Given the description of an element on the screen output the (x, y) to click on. 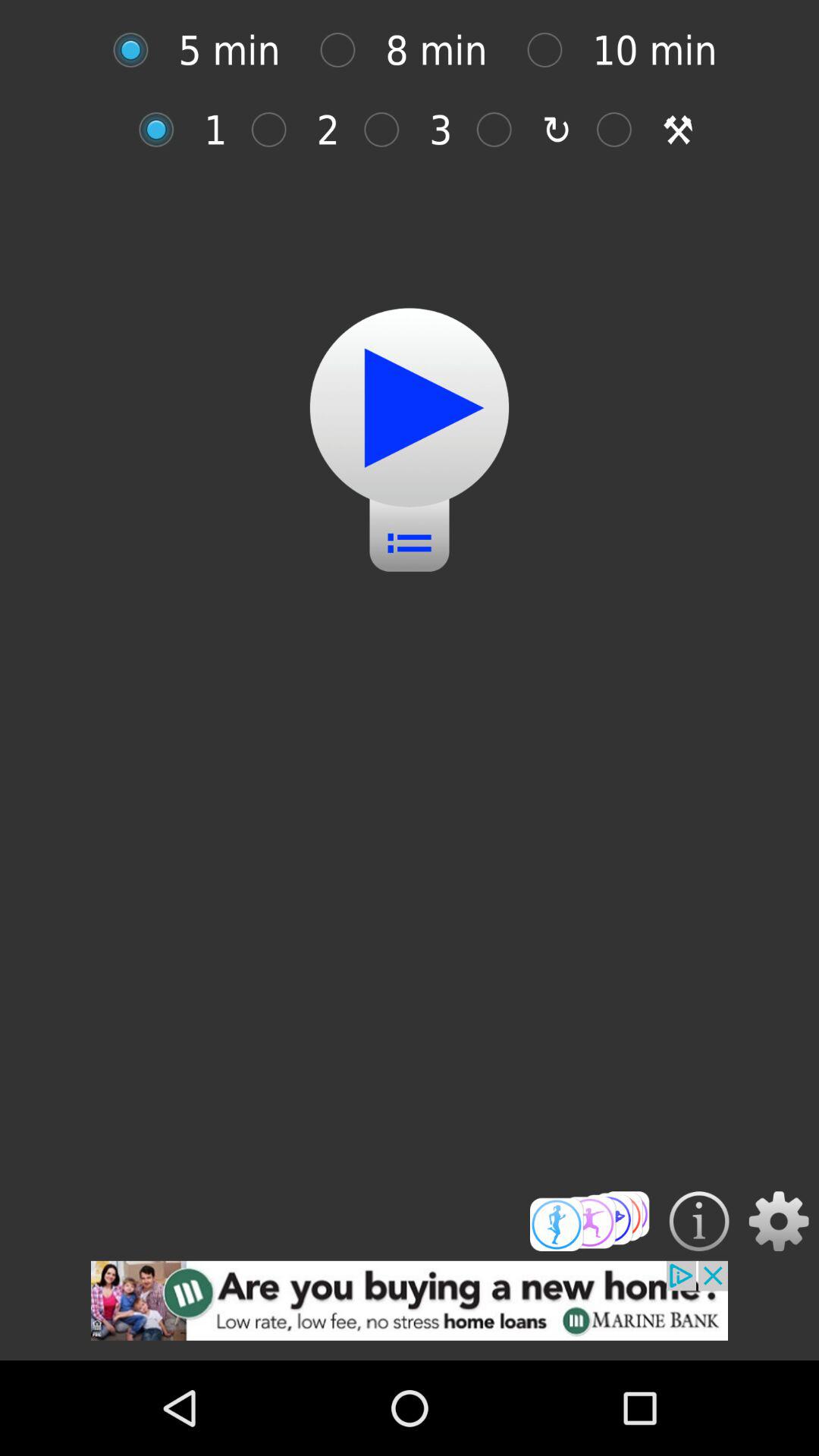
click on icon (345, 49)
